Given the description of an element on the screen output the (x, y) to click on. 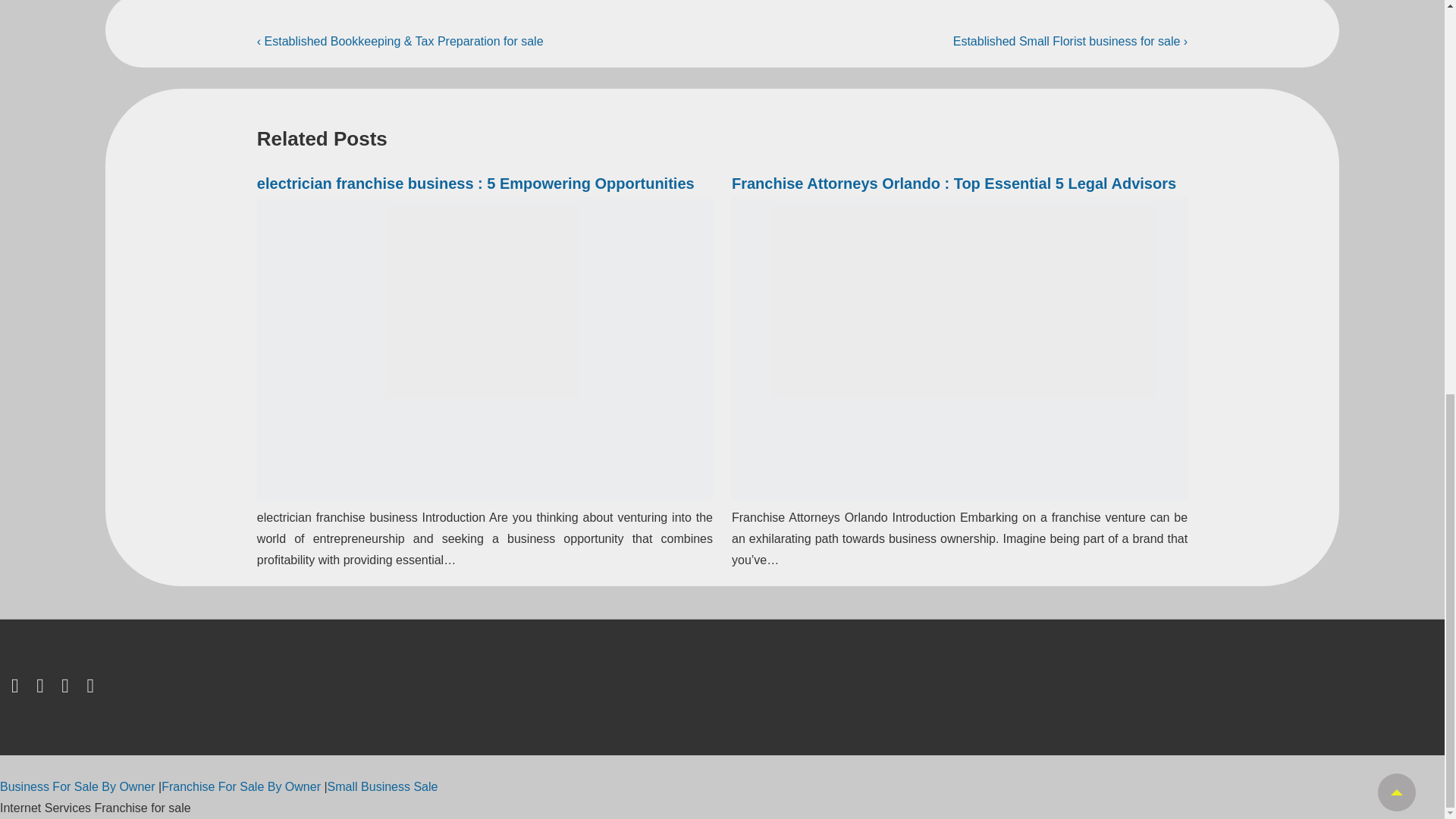
twitter (17, 688)
Franchise Attorneys Orlando : Top Essential 5 Legal Advisors (954, 183)
Top (1396, 34)
youtube (91, 688)
Scroll to Top (1396, 34)
electrician franchise business : 5 Empowering Opportunities (475, 183)
facebook (42, 688)
linkedin (68, 688)
